Given the description of an element on the screen output the (x, y) to click on. 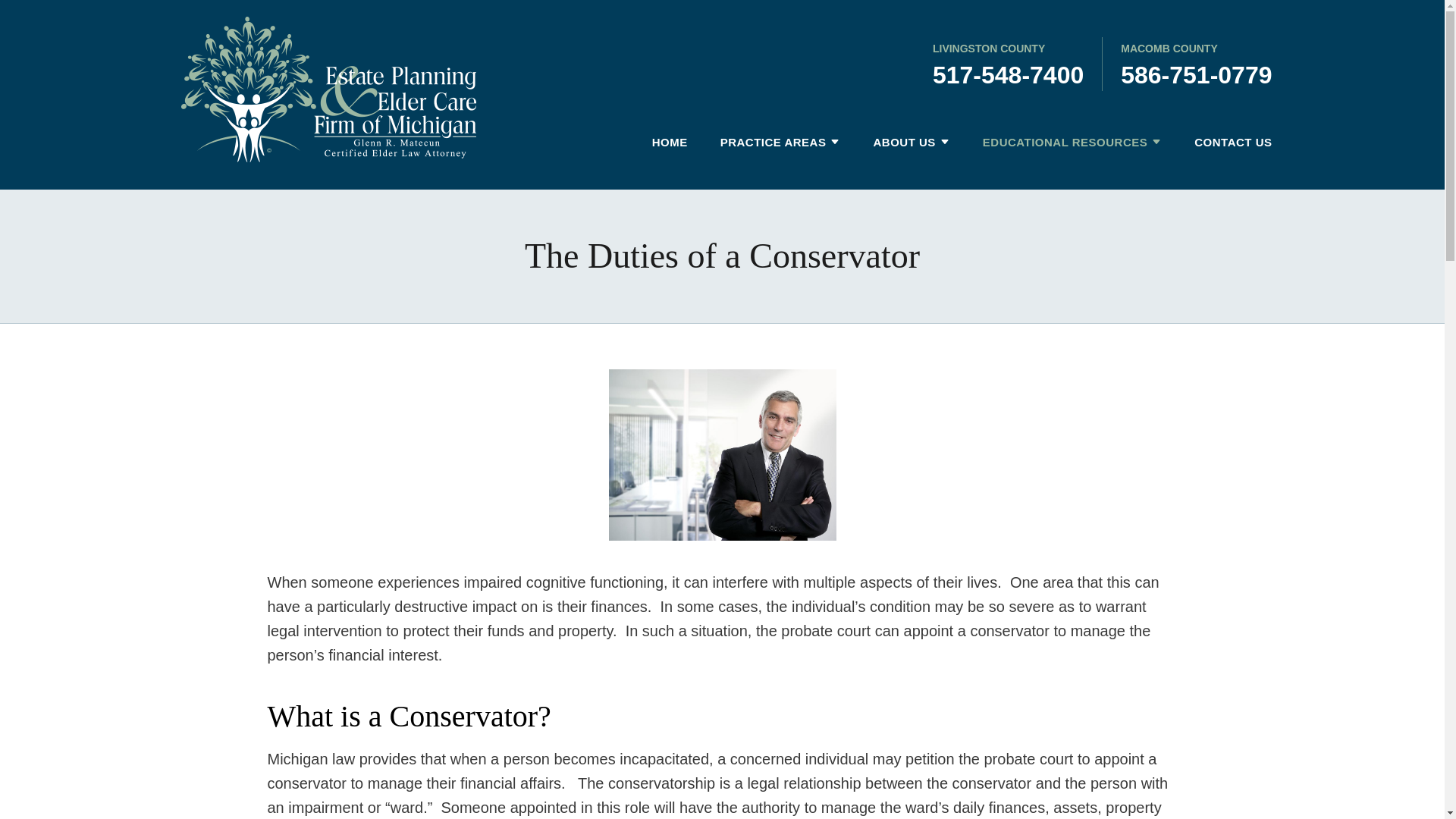
call local (1008, 74)
ABOUT US (895, 142)
call local (1196, 74)
PRACTICE AREAS (765, 142)
CONTACT US (1225, 142)
HOME (662, 142)
EDUCATIONAL RESOURCES (1057, 142)
586-751-0779 (1196, 74)
517-548-7400 (1008, 74)
